Given the description of an element on the screen output the (x, y) to click on. 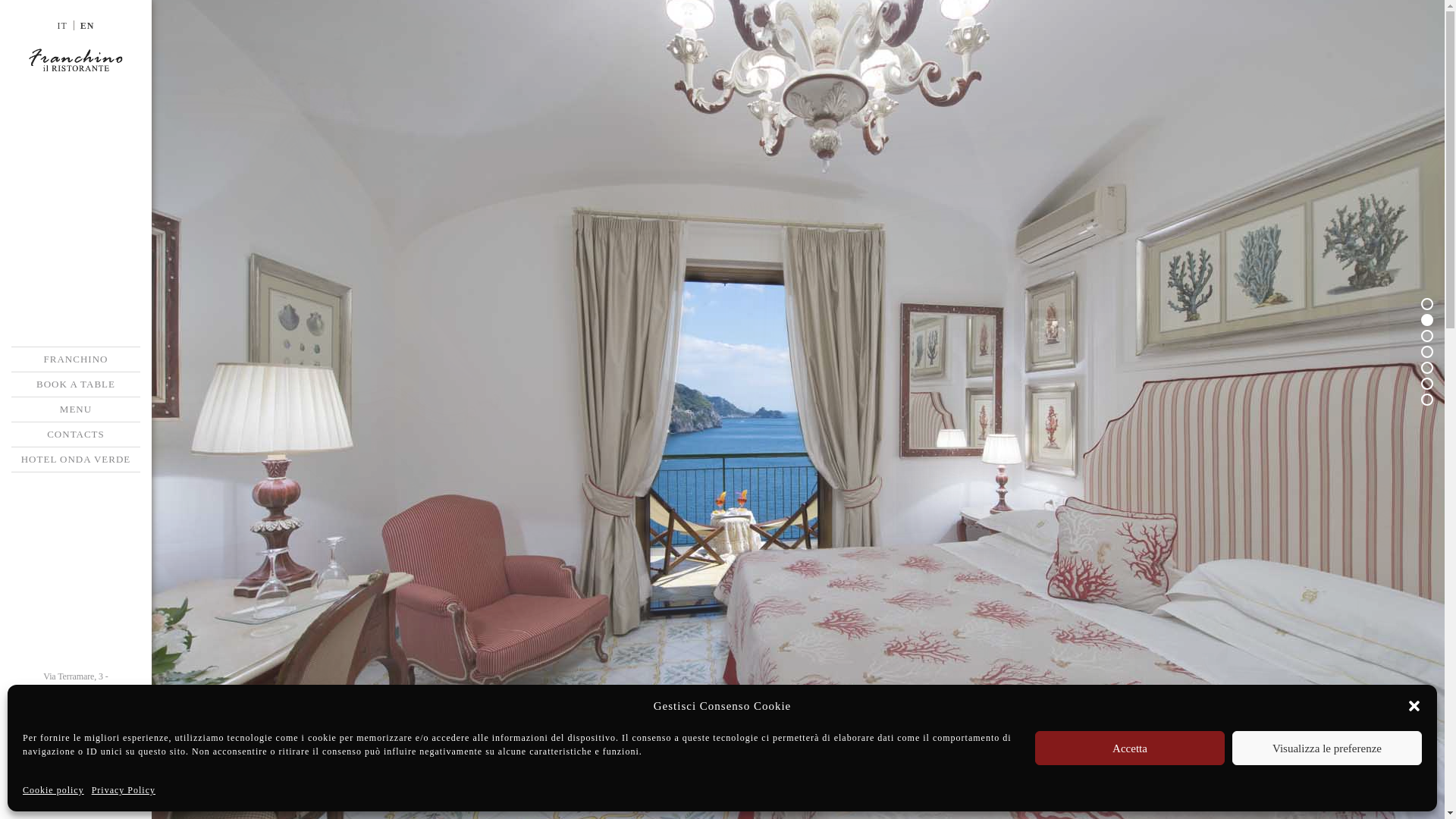
4 (1426, 351)
CONTACTS (75, 434)
Visualizza le preferenze (1326, 747)
IT (62, 25)
Accetta (1129, 747)
5 (1426, 367)
6 (1426, 383)
EN (87, 25)
2 (1426, 319)
Cookie policy (53, 790)
1 (1426, 304)
MENU (75, 409)
BOOK A TABLE (75, 384)
3 (1426, 336)
Privacy Policy (123, 790)
